Given the description of an element on the screen output the (x, y) to click on. 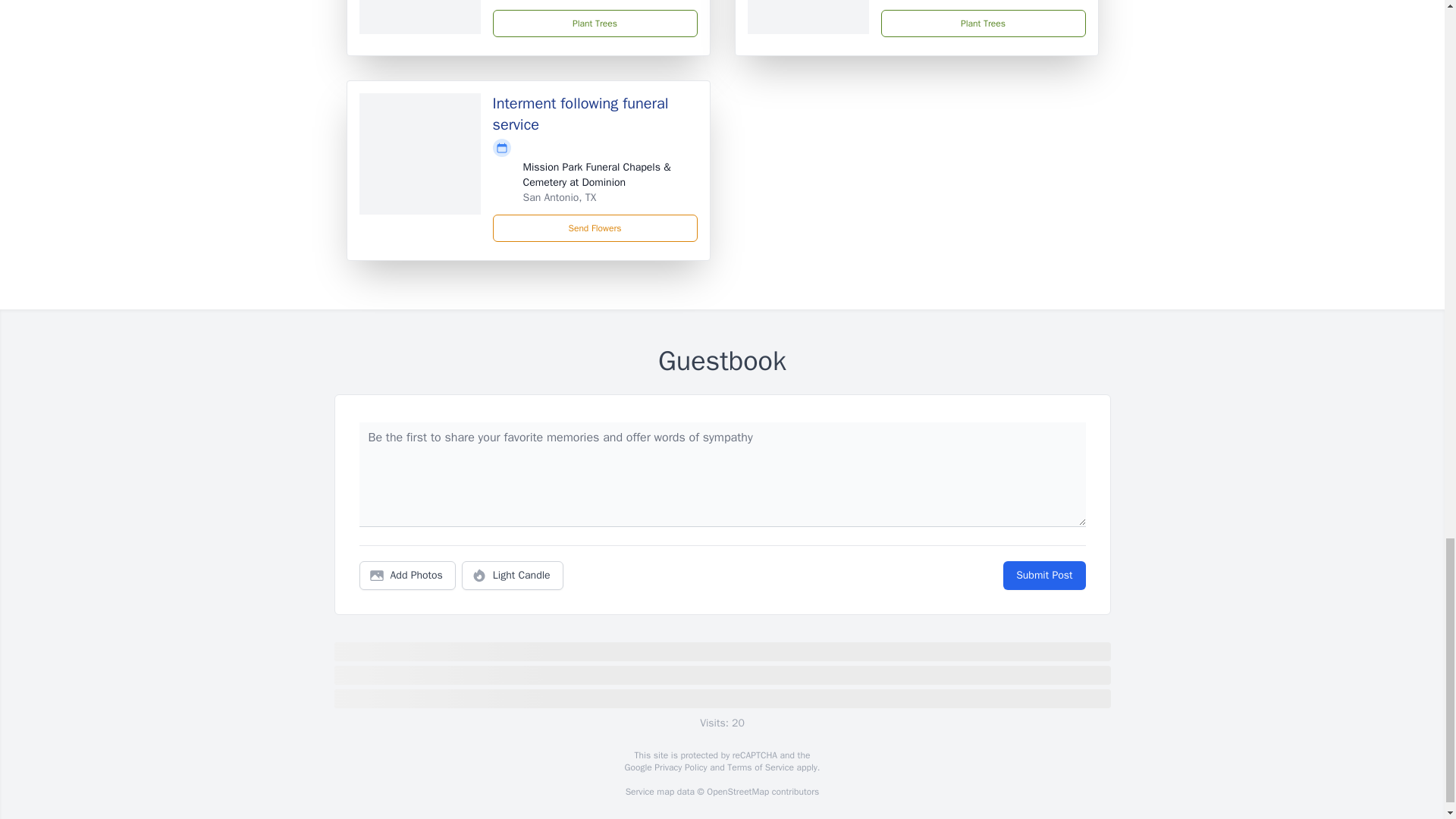
Submit Post (1043, 575)
San Antonio, TX (559, 196)
Privacy Policy (679, 767)
Plant Trees (983, 22)
Plant Trees (595, 22)
Add Photos (407, 575)
Terms of Service (759, 767)
Light Candle (512, 575)
Send Flowers (595, 227)
OpenStreetMap (737, 791)
